Given the description of an element on the screen output the (x, y) to click on. 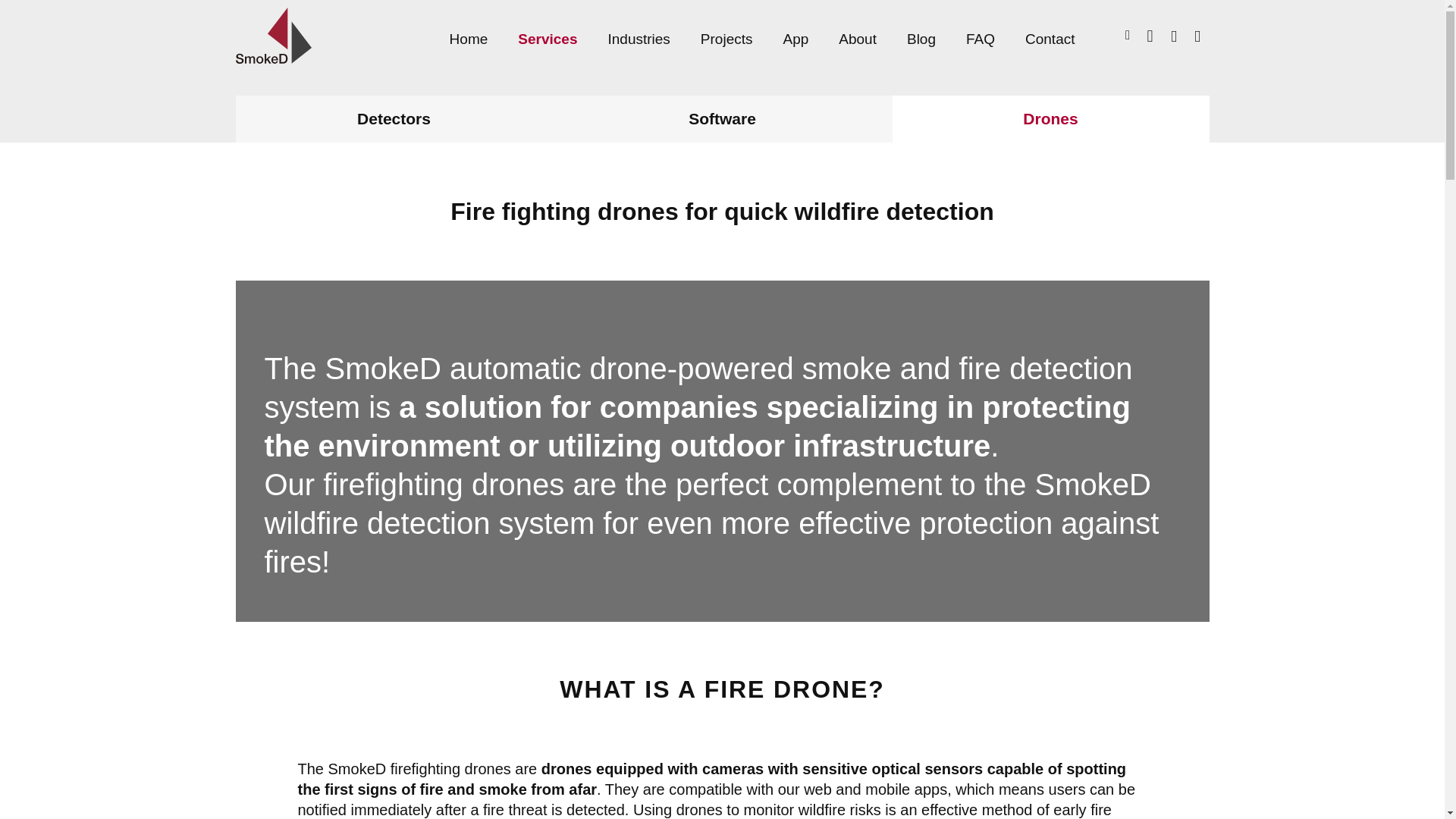
Blog (920, 38)
Contact (1049, 38)
logo SmokeD (272, 35)
App (795, 38)
About (857, 38)
Home (468, 38)
FAQ (980, 38)
Projects (726, 38)
Industries (638, 38)
Services (547, 38)
